Given the description of an element on the screen output the (x, y) to click on. 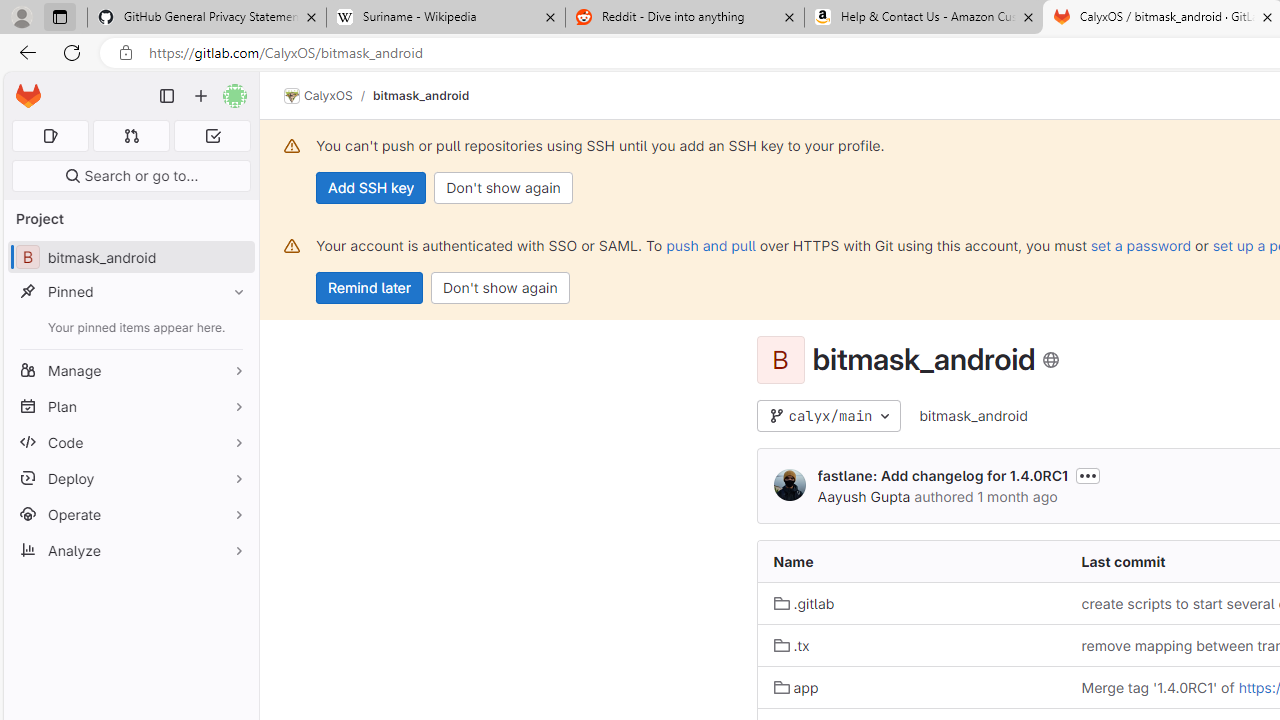
Assigned issues 0 (50, 136)
bitmask_android (973, 416)
.tx (911, 645)
Merge requests 0 (131, 136)
set a password (1140, 245)
Don't show again (500, 287)
Deploy (130, 478)
Toggle commit description (1087, 475)
app (796, 686)
app (911, 687)
Primary navigation sidebar (167, 96)
